Given the description of an element on the screen output the (x, y) to click on. 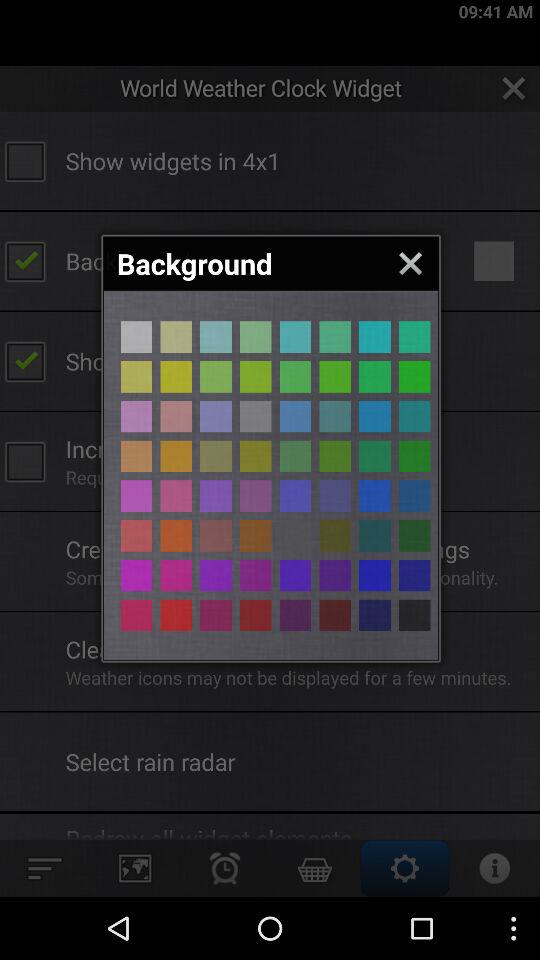
select background colour (255, 416)
